Given the description of an element on the screen output the (x, y) to click on. 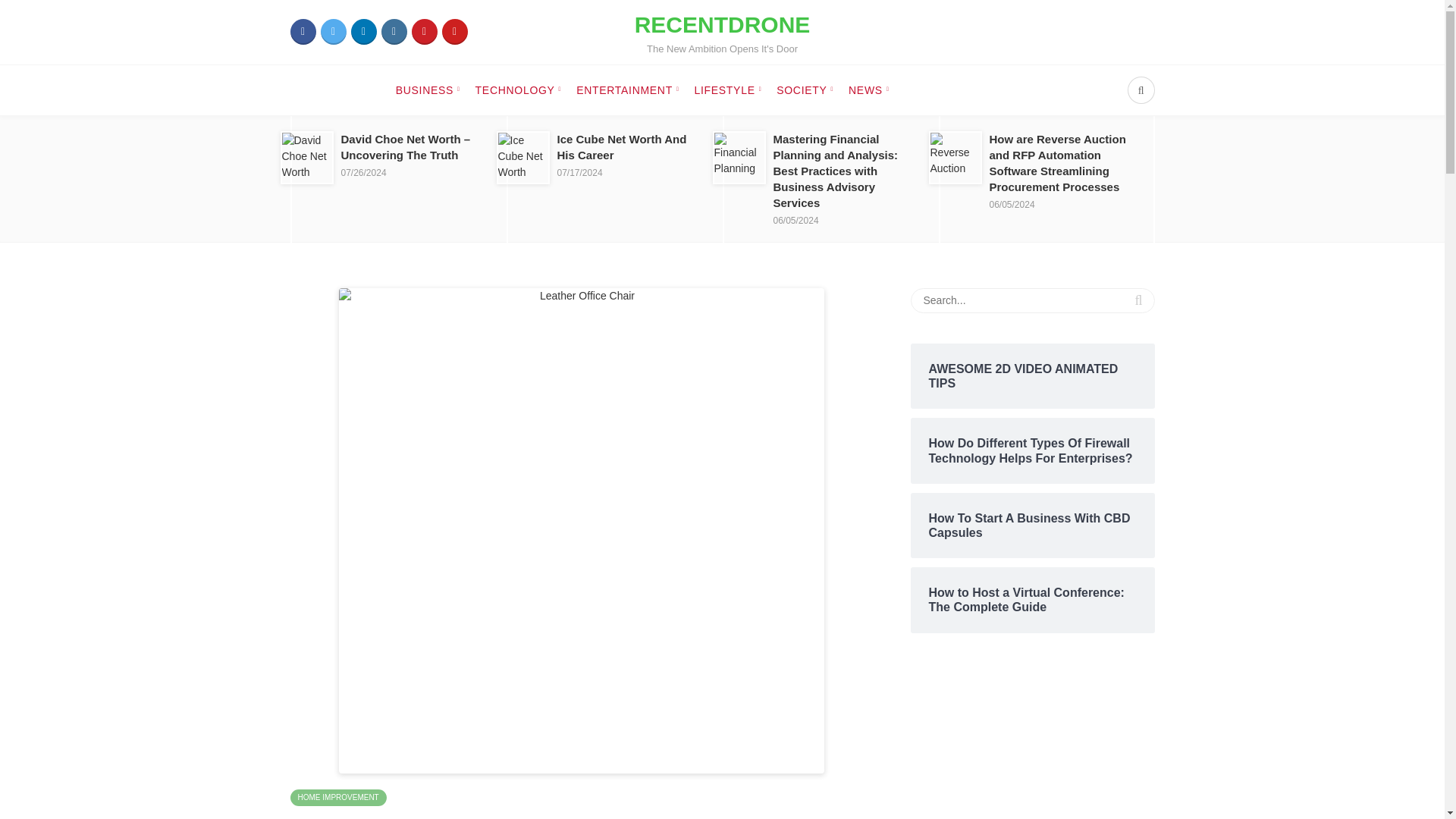
ENTERTAINMENT (627, 90)
TECHNOLOGY (519, 90)
Pinterest (722, 31)
Recentdrone (423, 31)
SOCIETY (722, 31)
View all posts in Home Improvement (804, 90)
Facebook (337, 796)
Instagram (302, 31)
Linkedin (393, 31)
